Given the description of an element on the screen output the (x, y) to click on. 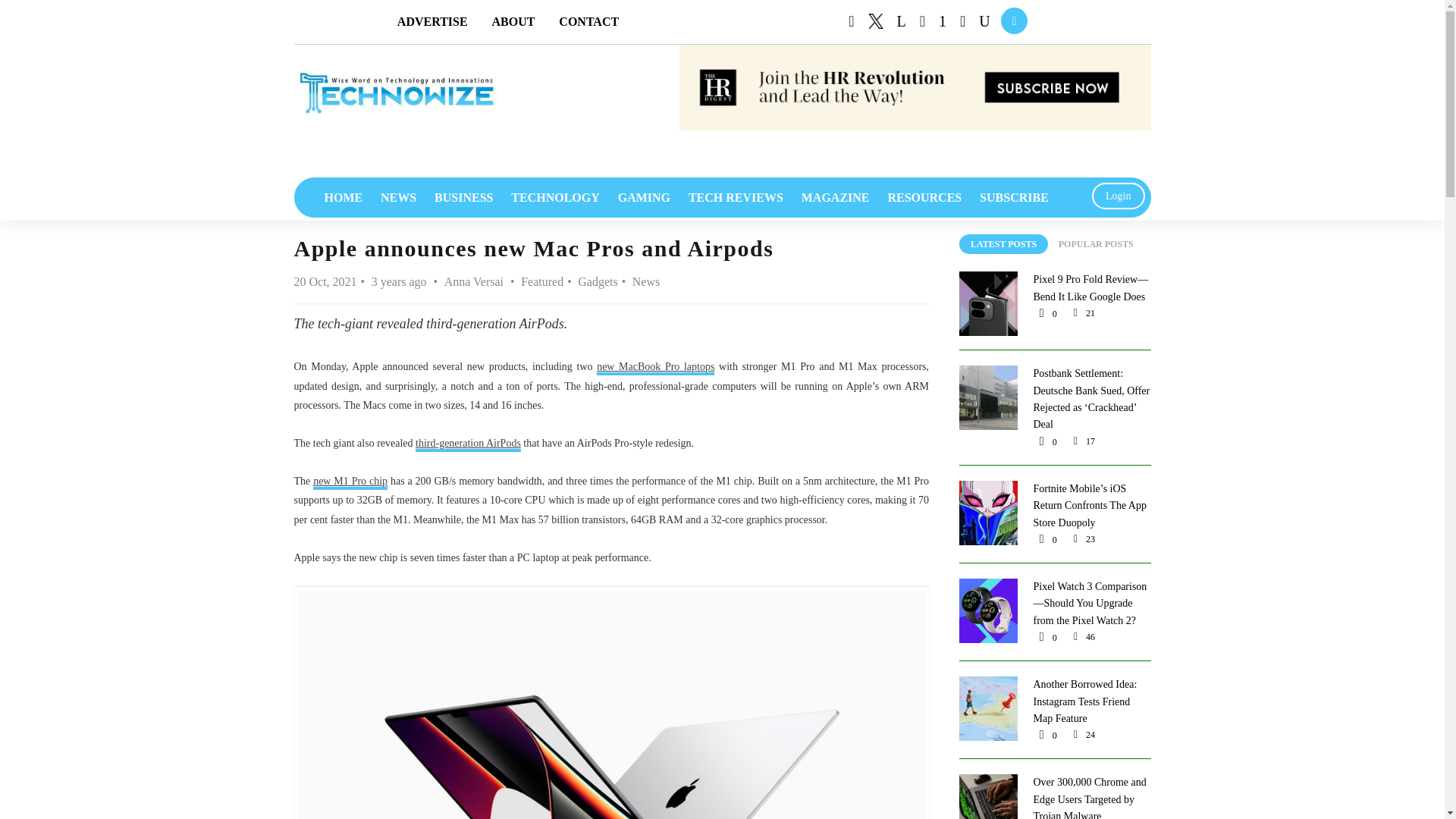
ABOUT (513, 21)
HOME (344, 197)
ADVERTISE (432, 21)
CONTACT (588, 21)
Technowize (396, 92)
